Given the description of an element on the screen output the (x, y) to click on. 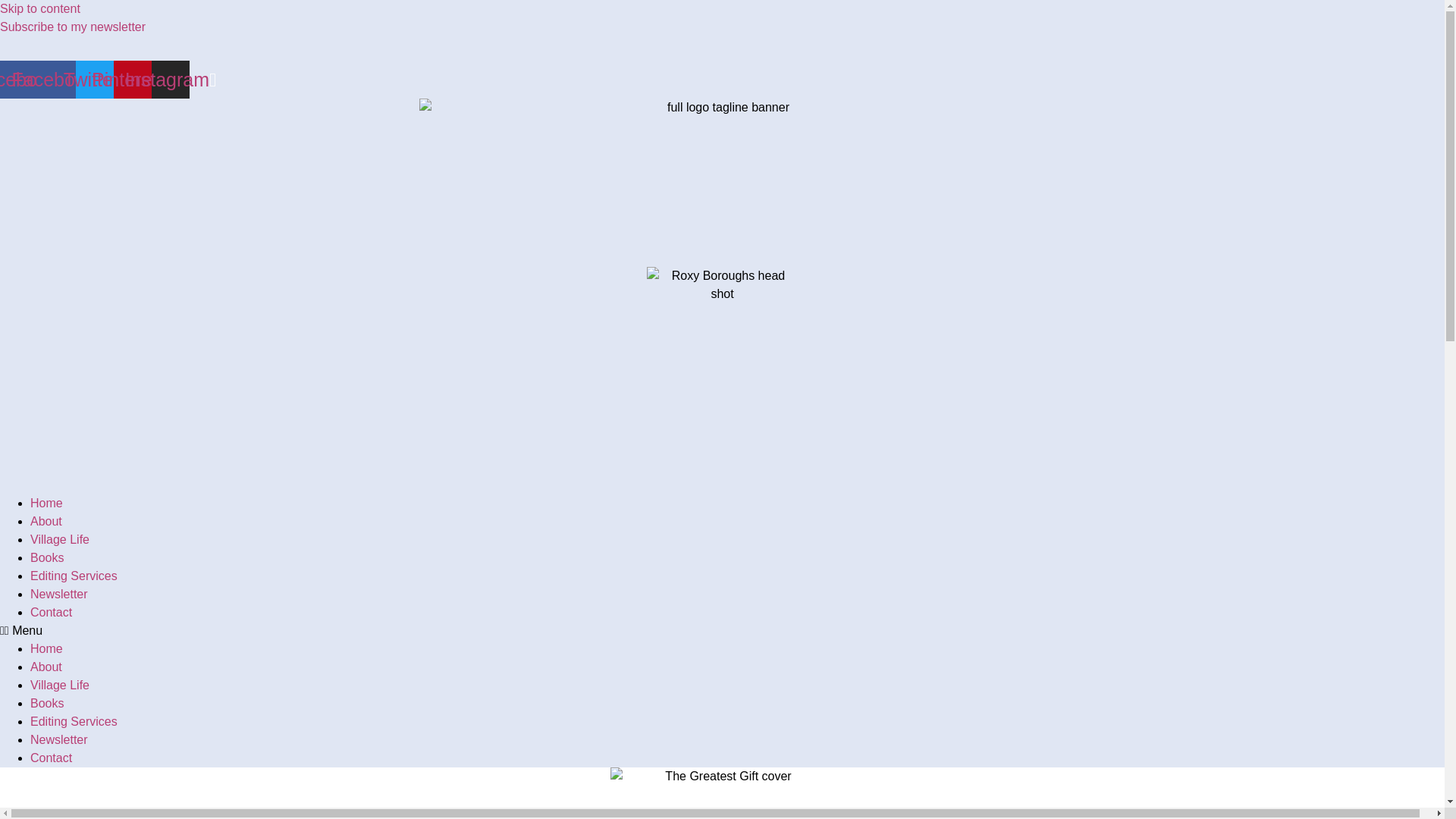
Pinterest (132, 79)
Facebook (18, 79)
Newsletter (58, 594)
Editing Services (73, 575)
Subscribe to my newsletter (72, 26)
Books (47, 703)
Village Life (59, 684)
Home (46, 648)
About (46, 521)
Skip to content (40, 8)
About (46, 666)
Instagram (170, 79)
Editing Services (73, 721)
Contact (50, 757)
Facebook (56, 79)
